Given the description of an element on the screen output the (x, y) to click on. 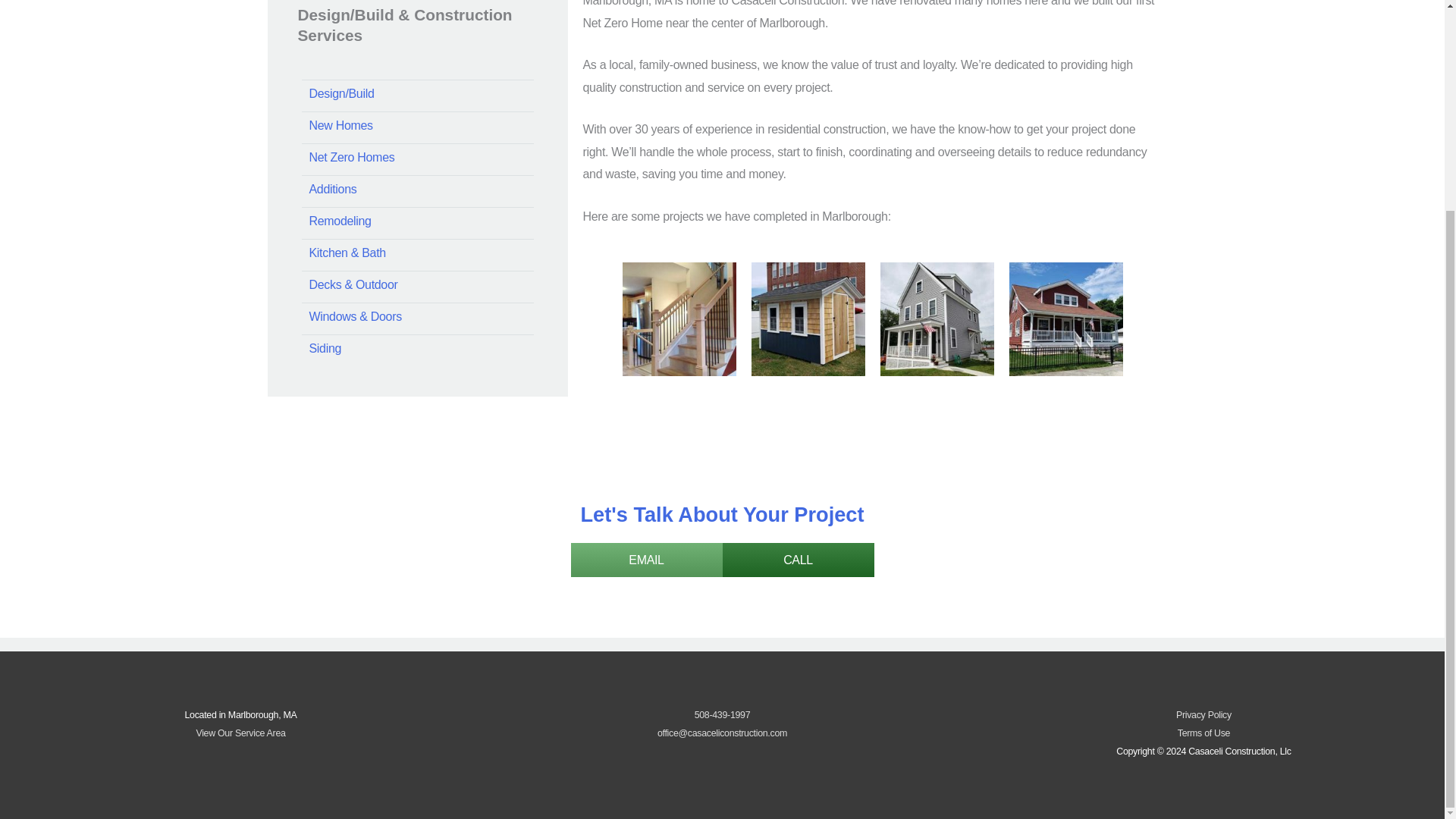
CALL (797, 559)
EMAIL (646, 559)
Privacy Policy (1203, 715)
New Homes (417, 125)
View Our Service Area (240, 733)
Net Zero Homes (417, 157)
Let's Talk About Your Project (721, 514)
Let's Talk About Your Project (721, 514)
Additions (417, 189)
Terms of Use (1203, 733)
Siding (417, 348)
508-439-1997 (722, 715)
Remodeling (417, 221)
